Given the description of an element on the screen output the (x, y) to click on. 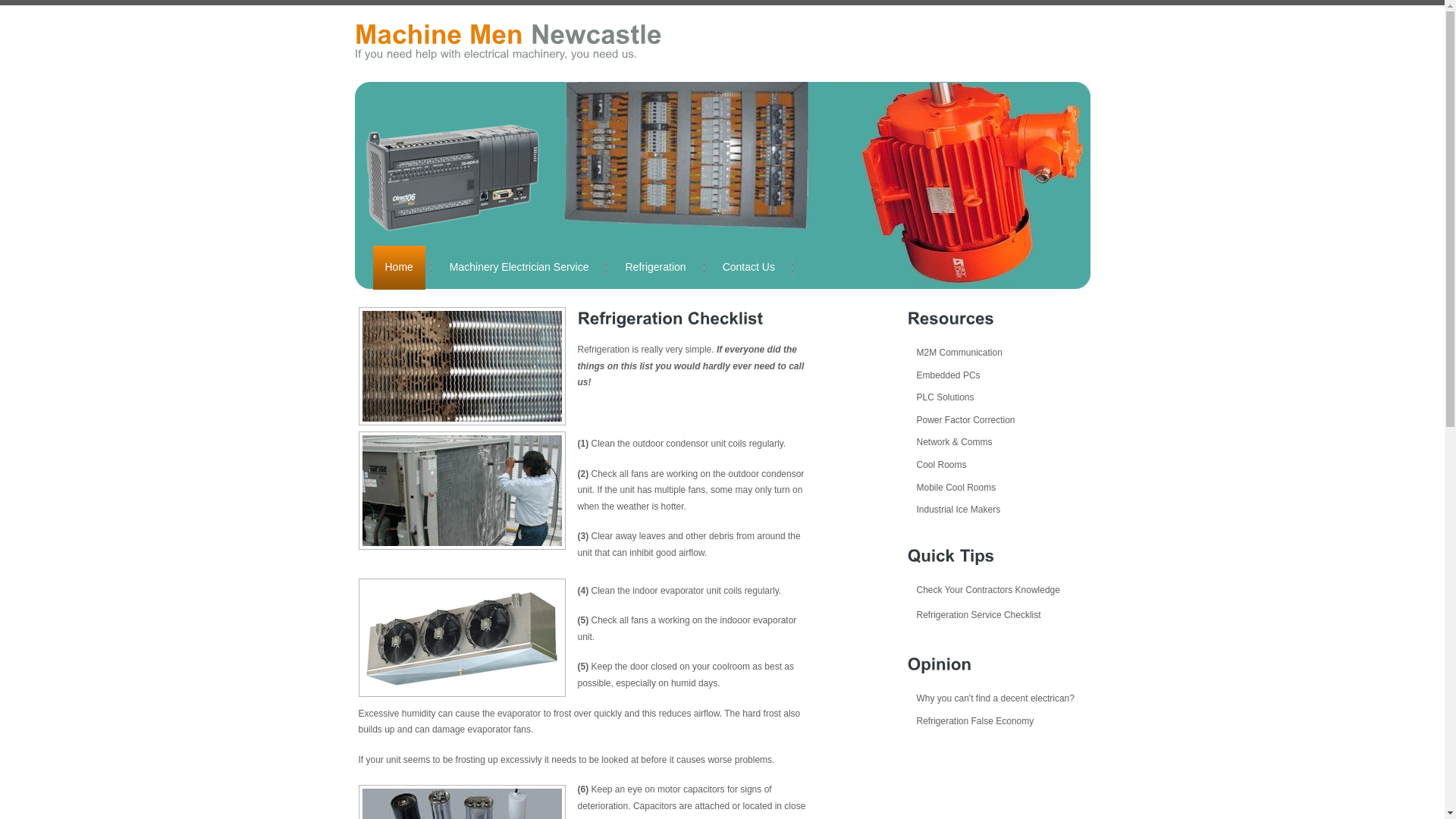
Contact Us Element type: text (748, 267)
PLC Solutions Element type: text (939, 397)
Mobile Cool Rooms Element type: text (950, 487)
Home Element type: text (399, 267)
Why you can't find a decent electrican? Element type: text (989, 698)
Power Factor Correction Element type: text (960, 419)
Network & Comms Element type: text (948, 441)
Embedded PCs Element type: text (942, 375)
Refrigeration False Economy Element type: text (969, 720)
Check Your Contractors Knowledge Element type: text (982, 589)
Refrigeration Element type: text (654, 267)
Industrial Ice Makers Element type: text (953, 509)
M2M Communication Element type: text (953, 352)
Machinery Electrician Service Element type: text (519, 267)
Cool Rooms Element type: text (936, 464)
Refrigeration Service Checklist Element type: text (973, 614)
